Given the description of an element on the screen output the (x, y) to click on. 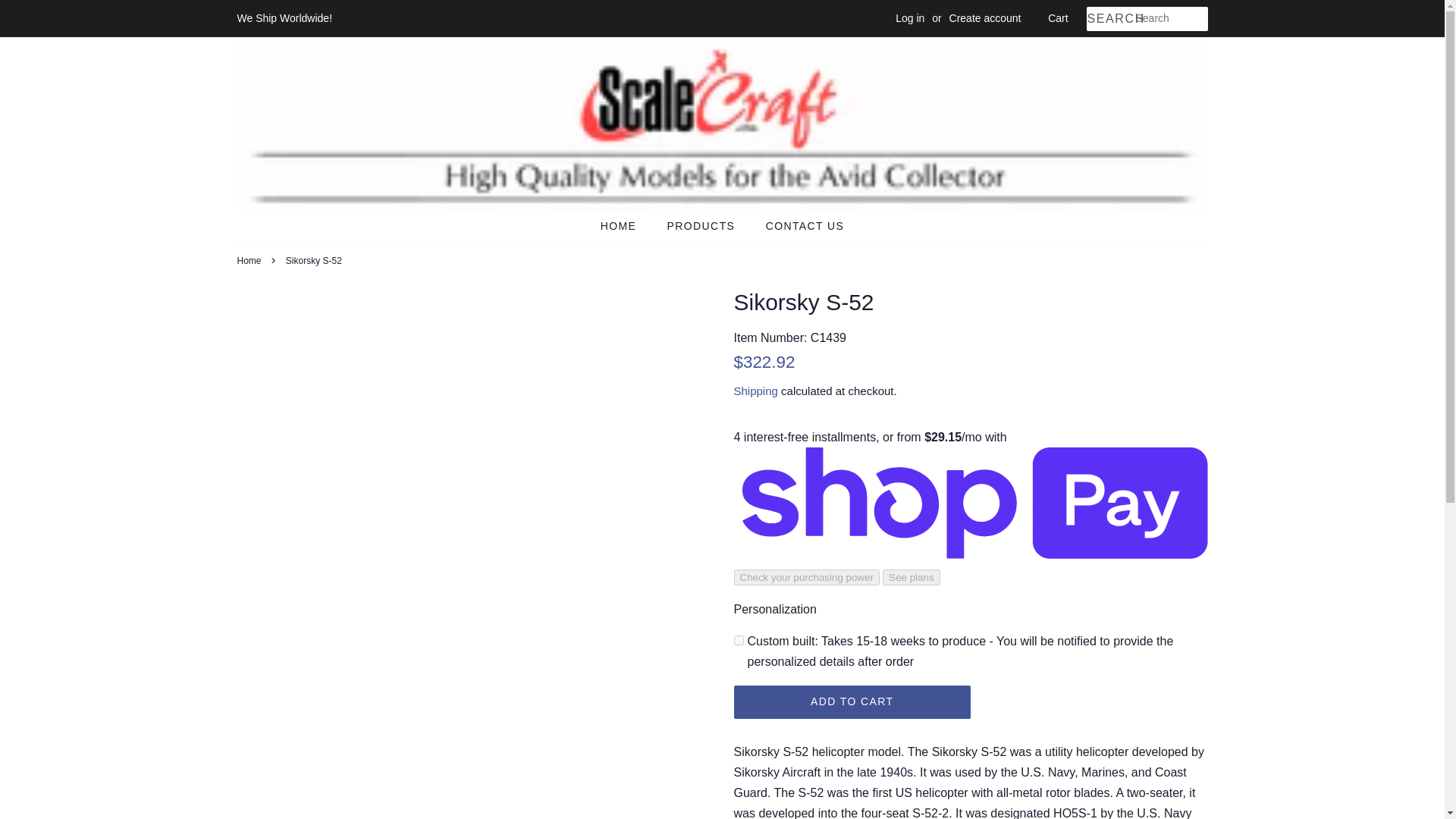
SEARCH (1110, 18)
PRODUCTS (703, 226)
Log in (909, 18)
Create account (985, 18)
Yes (738, 640)
HOME (625, 226)
Back to the frontpage (249, 260)
Cart (1057, 18)
